Given the description of an element on the screen output the (x, y) to click on. 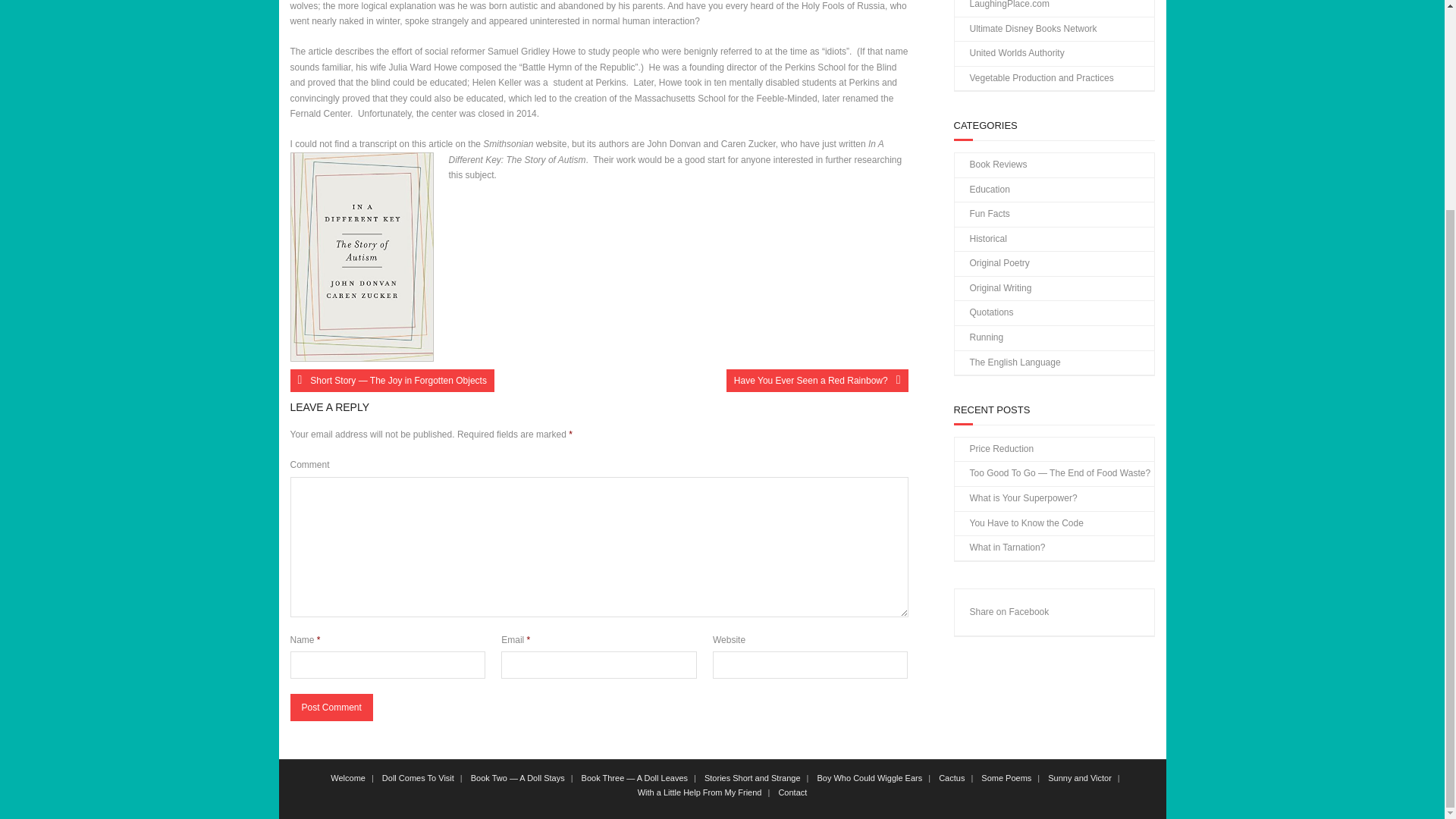
Post Comment (330, 707)
